Given the description of an element on the screen output the (x, y) to click on. 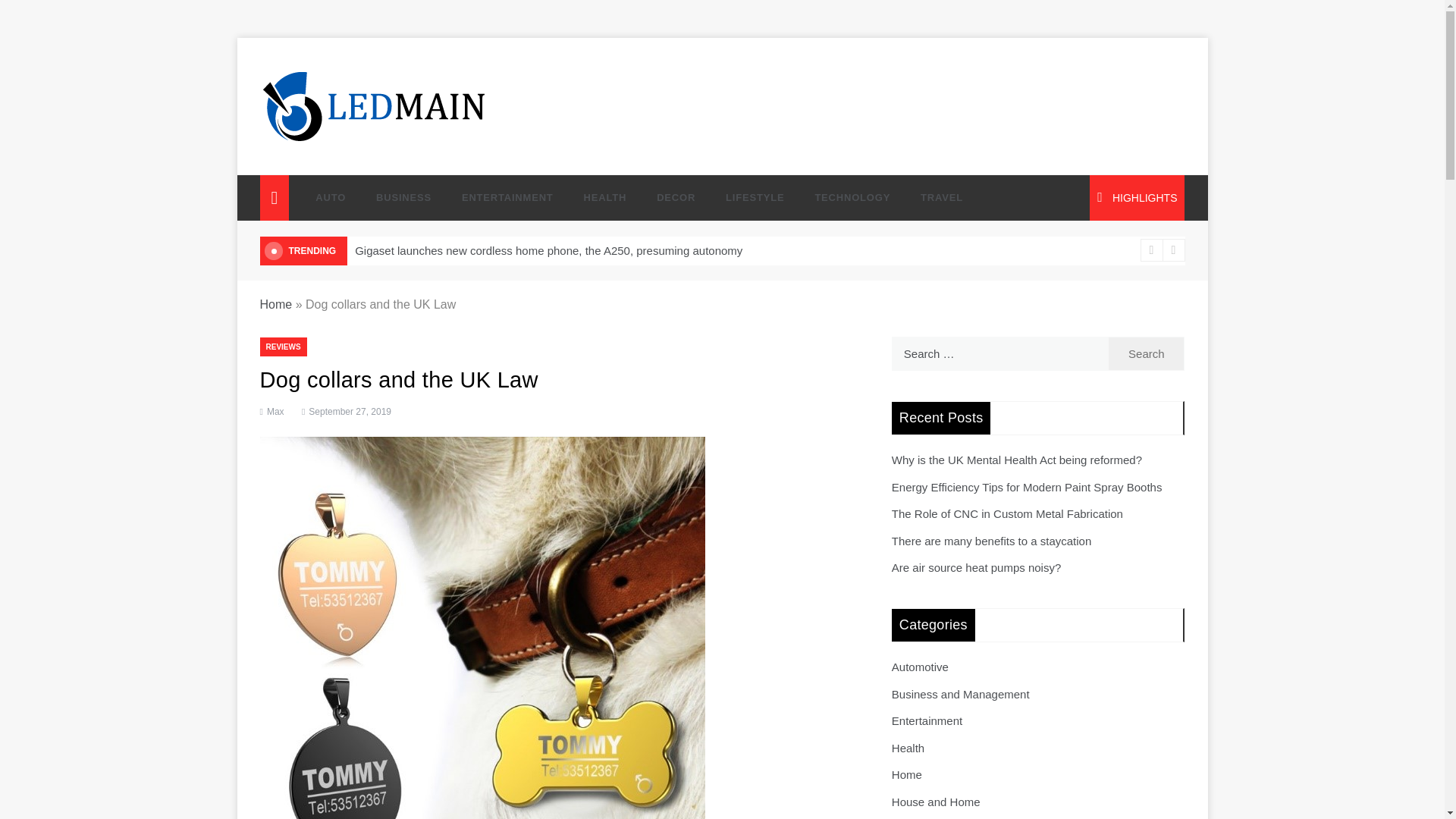
Search (1146, 353)
HIGHLIGHTS (1137, 197)
LIFESTYLE (754, 197)
ENTERTAINMENT (507, 197)
TECHNOLOGY (852, 197)
BUSINESS (403, 197)
Ledmain (302, 156)
TRAVEL (933, 197)
